Given the description of an element on the screen output the (x, y) to click on. 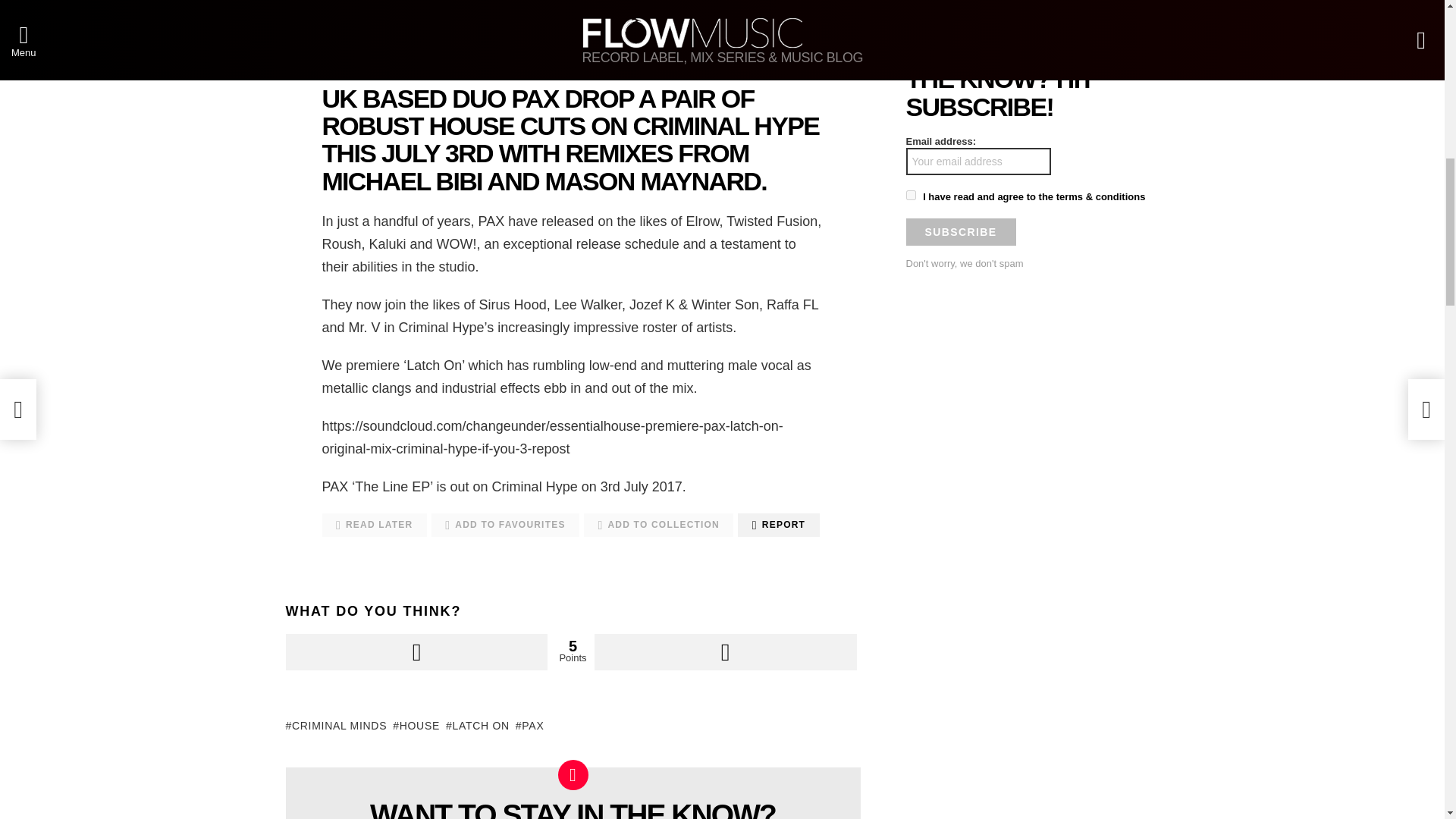
Tweet (719, 50)
READ LATER (373, 525)
Upvote (416, 651)
Downvote (725, 651)
SUBSCRIBE (959, 231)
ADD TO FAVOURITES (504, 525)
Share (430, 50)
1 (910, 194)
